Given the description of an element on the screen output the (x, y) to click on. 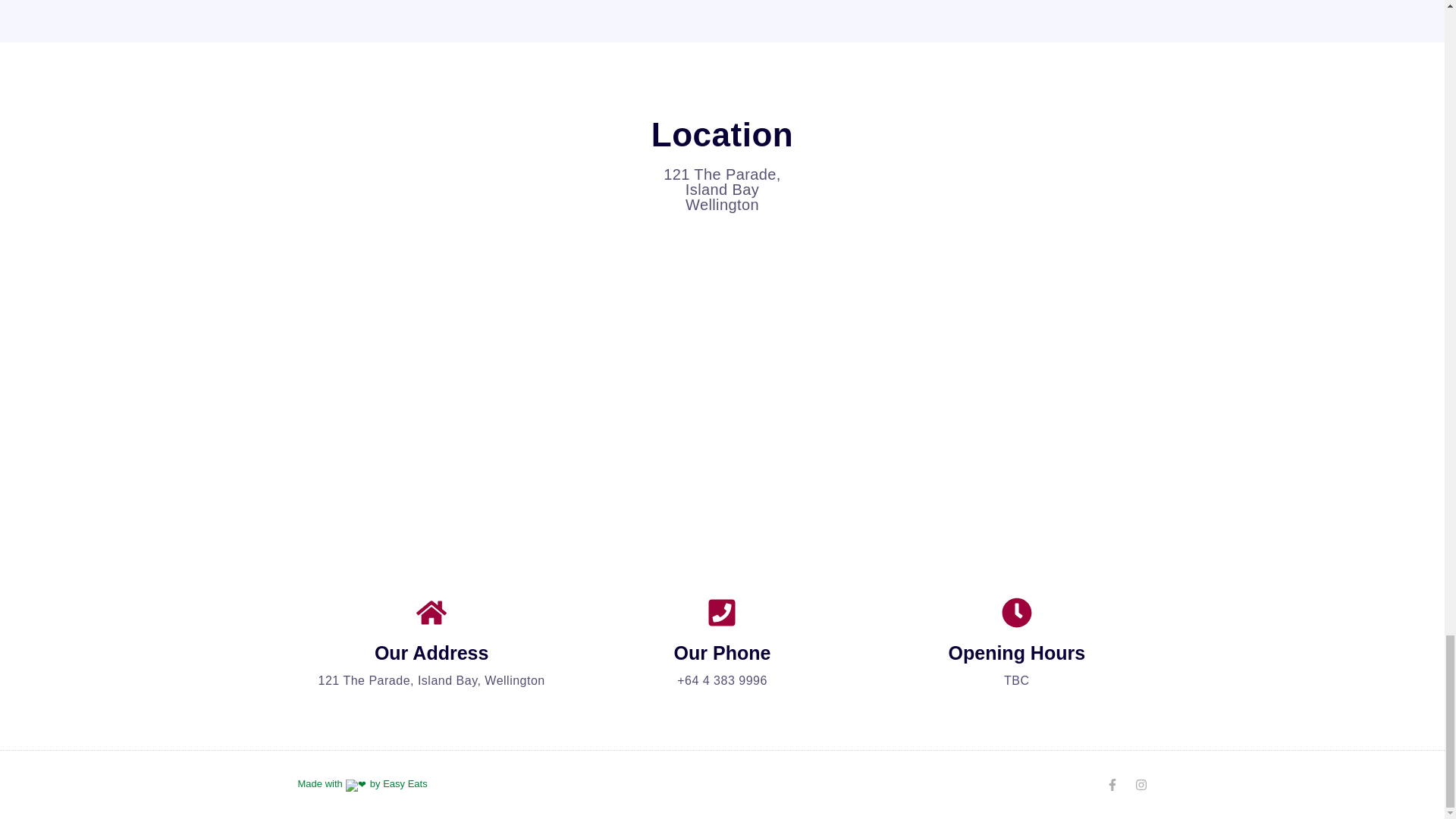
Our Phone (722, 652)
Made with by Easy Eats (361, 783)
